Given the description of an element on the screen output the (x, y) to click on. 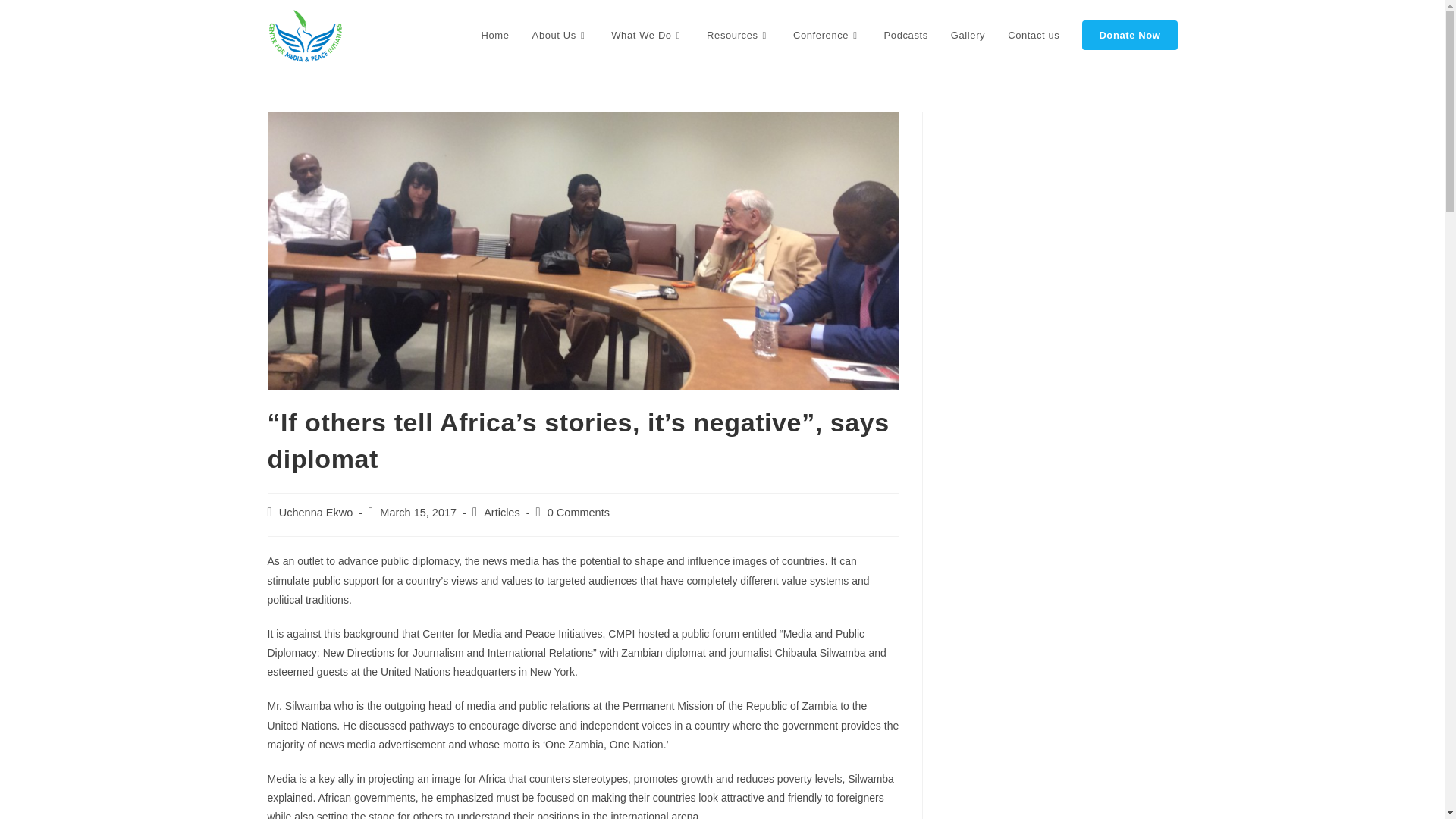
About Us (560, 35)
What We Do (647, 35)
Conference (826, 35)
Posts by Uchenna Ekwo (316, 512)
Home (495, 35)
Podcasts (905, 35)
Gallery (967, 35)
Resources (738, 35)
